Given the description of an element on the screen output the (x, y) to click on. 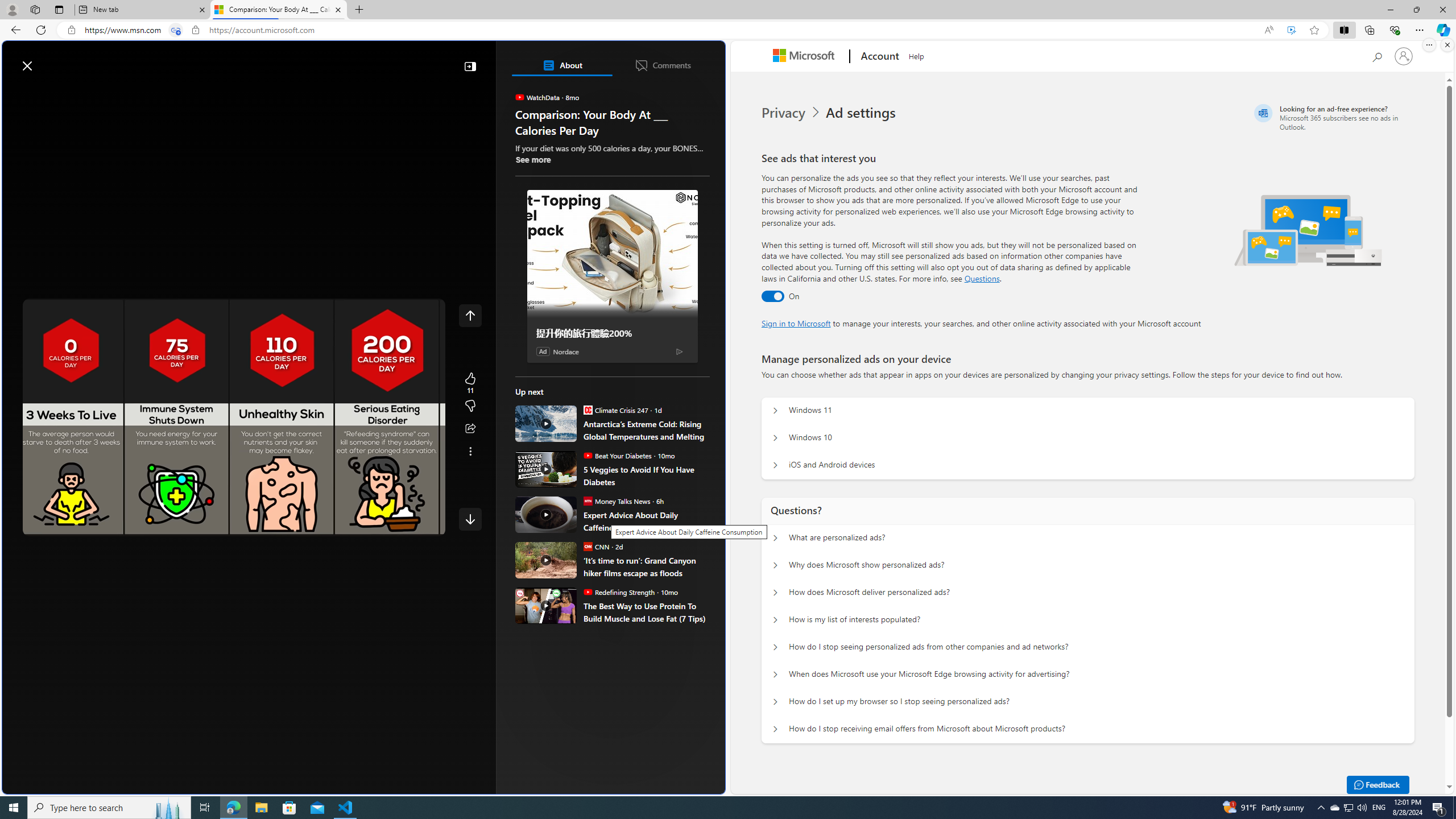
Close tab (338, 9)
Help (915, 54)
Address and search bar (669, 29)
See more (533, 159)
Settings (366, 525)
Redefining Strength Redefining Strength (618, 591)
Money Talks News Money Talks News (616, 500)
11 Like (469, 382)
WatchData (519, 96)
Discover (47, 92)
Tab actions menu (58, 9)
Minimize (1390, 9)
